Given the description of an element on the screen output the (x, y) to click on. 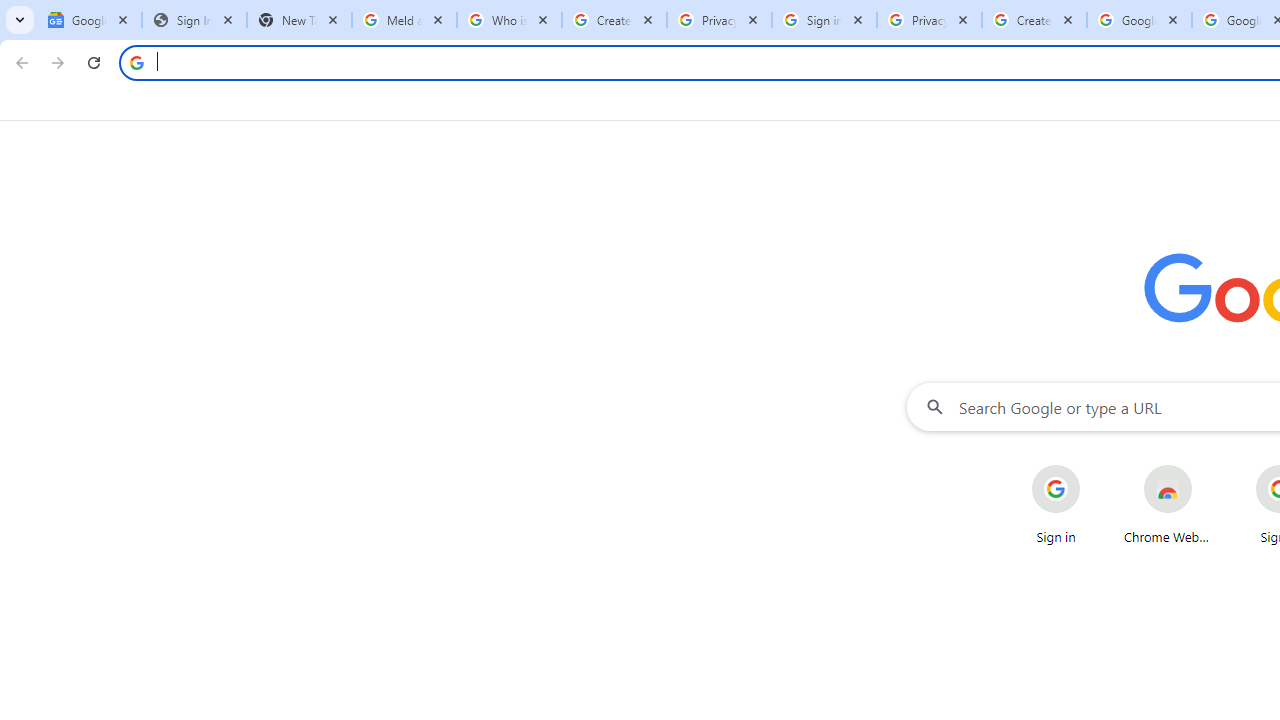
Sign in - Google Accounts (823, 20)
New Tab (299, 20)
Google News (89, 20)
More actions for Chrome Web Store shortcut (1208, 466)
More actions for Sign in shortcut (1095, 466)
